Given the description of an element on the screen output the (x, y) to click on. 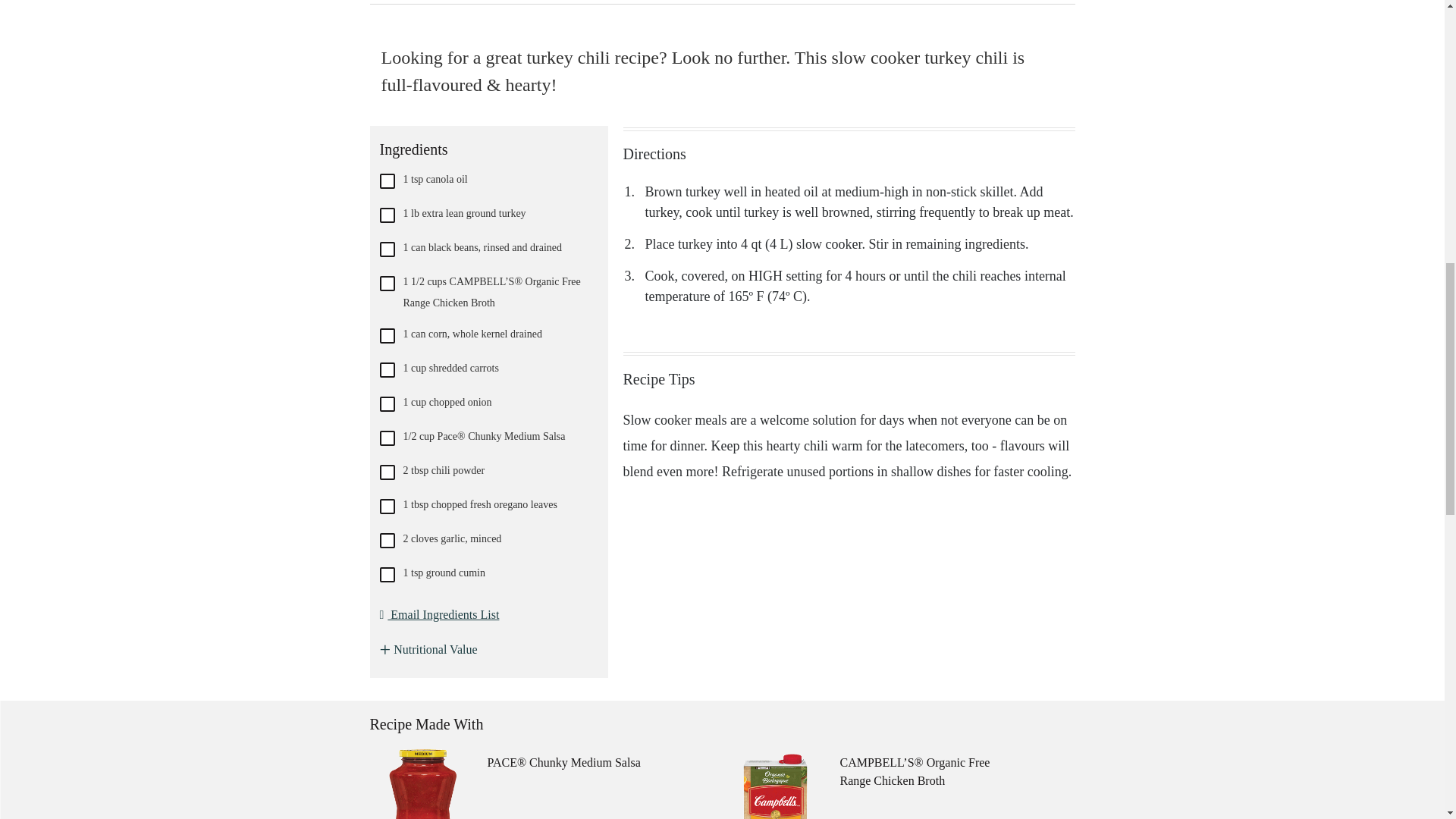
on (386, 437)
on (386, 335)
on (386, 506)
on (386, 249)
on (386, 540)
on (386, 403)
Email Ingredients List (438, 615)
on (386, 181)
on (386, 215)
on (386, 574)
